Given the description of an element on the screen output the (x, y) to click on. 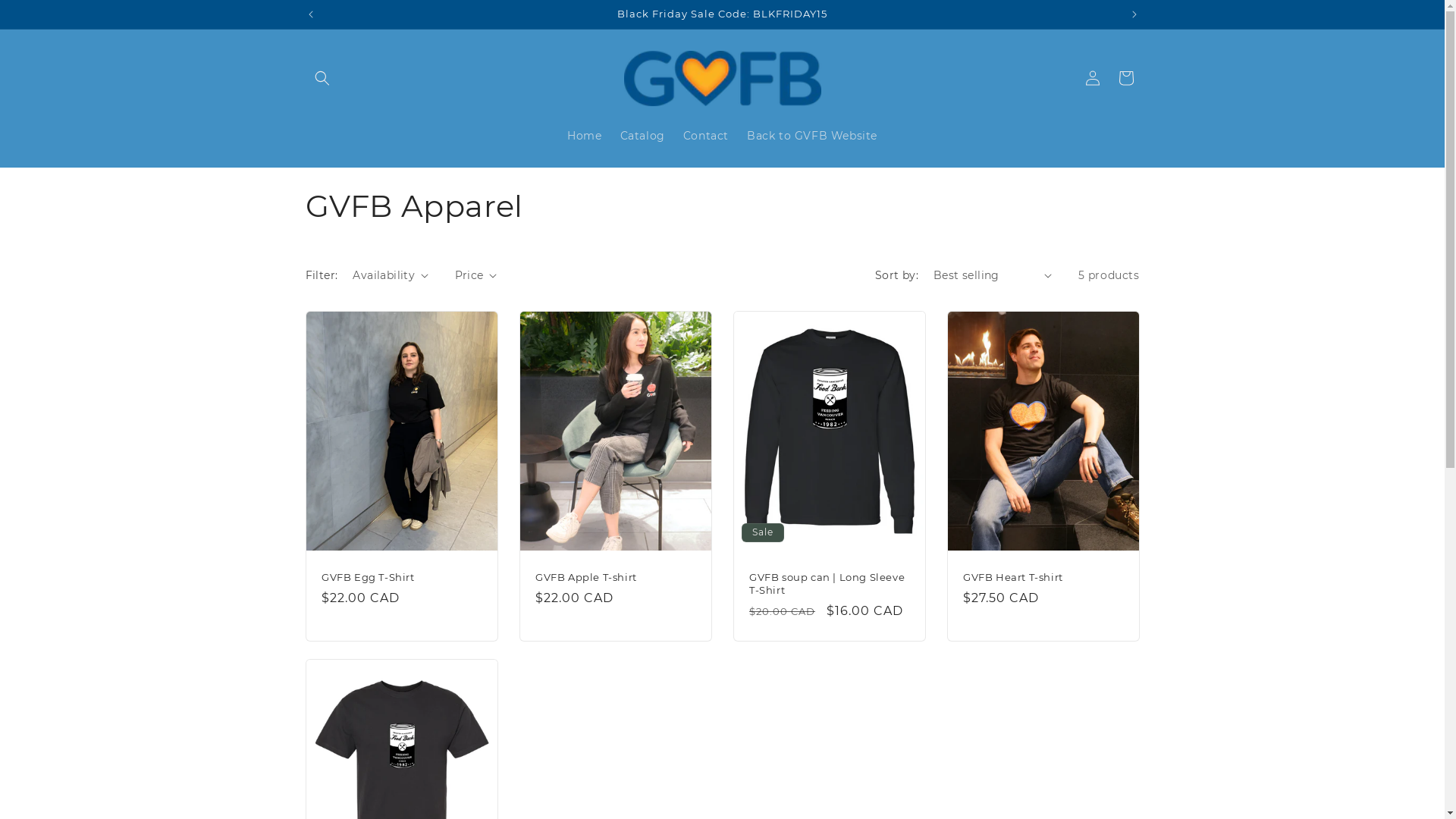
Back to GVFB Website Element type: text (811, 135)
GVFB soup can | Long Sleeve T-Shirt Element type: text (829, 583)
Cart Element type: text (1125, 77)
Contact Element type: text (705, 135)
Home Element type: text (584, 135)
Log in Element type: text (1091, 77)
GVFB Apple T-shirt Element type: text (615, 577)
GVFB Egg T-Shirt Element type: text (401, 577)
GVFB Heart T-shirt Element type: text (1043, 577)
Catalog Element type: text (642, 135)
